Given the description of an element on the screen output the (x, y) to click on. 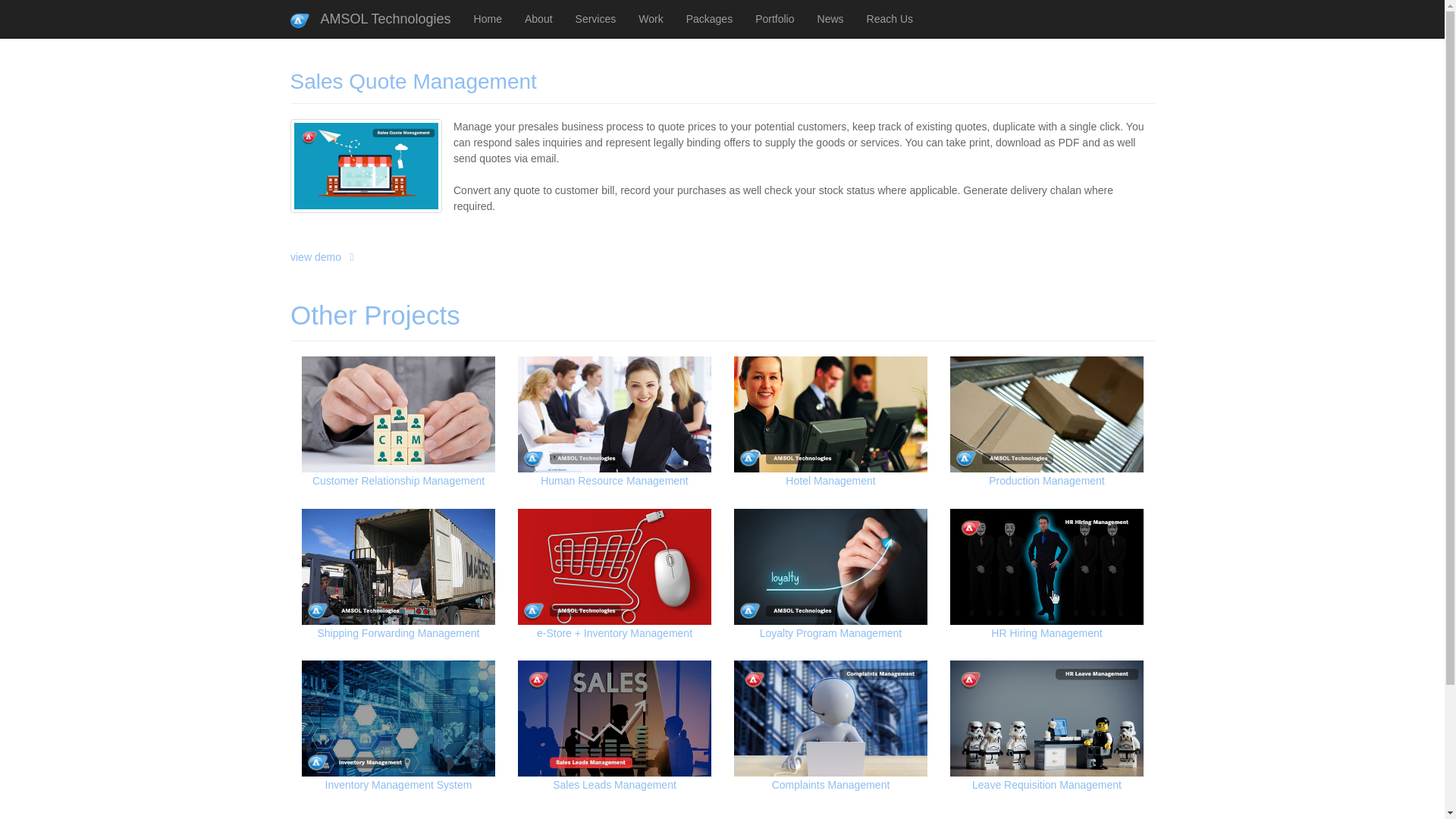
HR Hiring Management (1038, 583)
Home (488, 18)
News (831, 18)
Services (595, 18)
Click for Demo (321, 256)
About (538, 18)
Loyalty Program Management (829, 584)
Human Resource Management (639, 454)
Reach Us (890, 18)
view demo   (410, 244)
Production Management (1026, 447)
Sales Leads Management (617, 732)
Customer Relationship Management (472, 460)
Inventory Management System (409, 731)
AMSOL Technologies (371, 18)
